Given the description of an element on the screen output the (x, y) to click on. 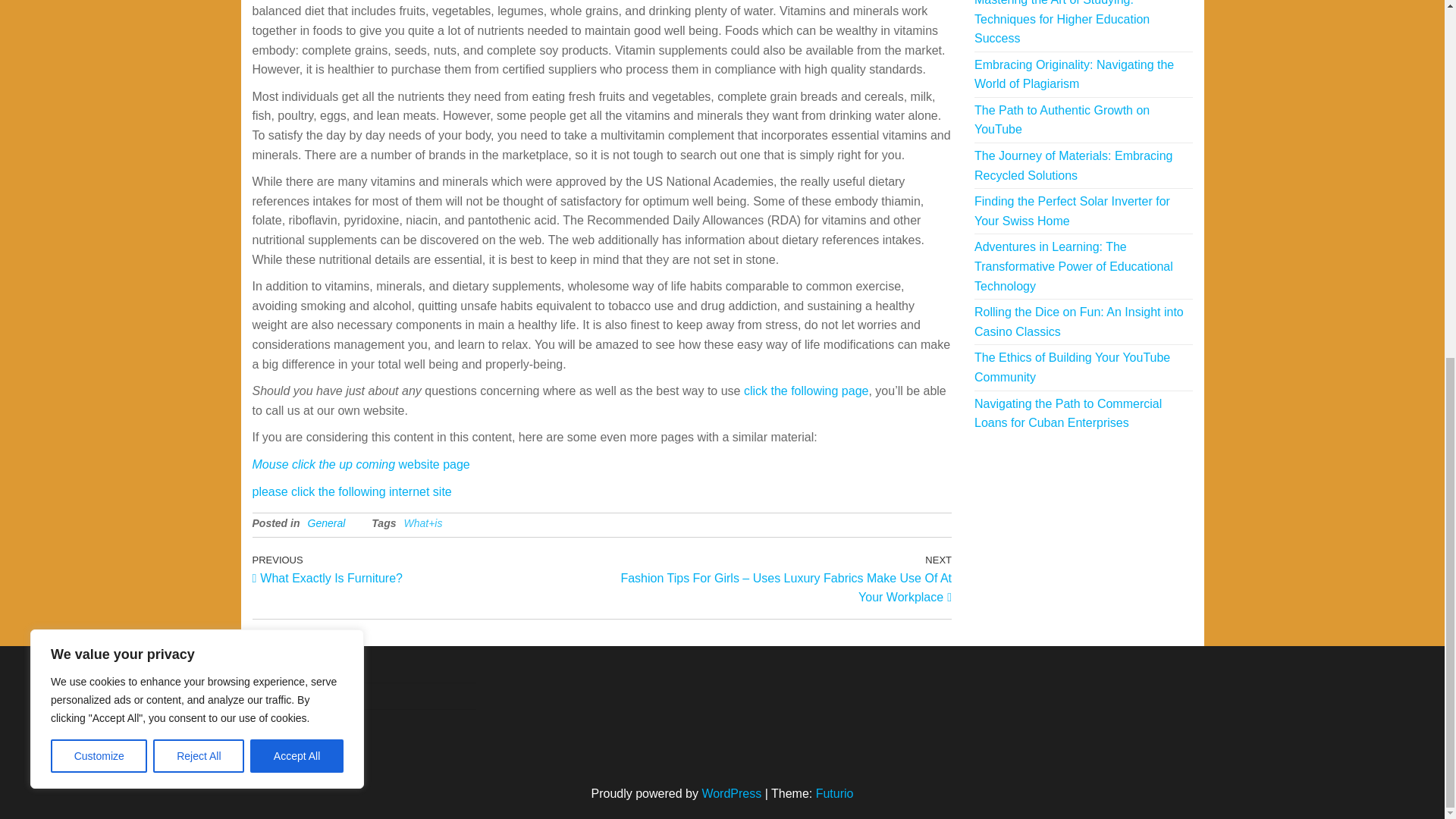
Reject All (198, 125)
Mouse click the up coming website page (359, 463)
General (326, 522)
Embracing Originality: Navigating the World of Plagiarism (1073, 74)
Customize (426, 568)
please click the following internet site (98, 125)
Accept All (351, 491)
The Path to Authentic Growth on YouTube (296, 125)
The Journey of Materials: Embracing Recycled Solutions (1062, 120)
